Given the description of an element on the screen output the (x, y) to click on. 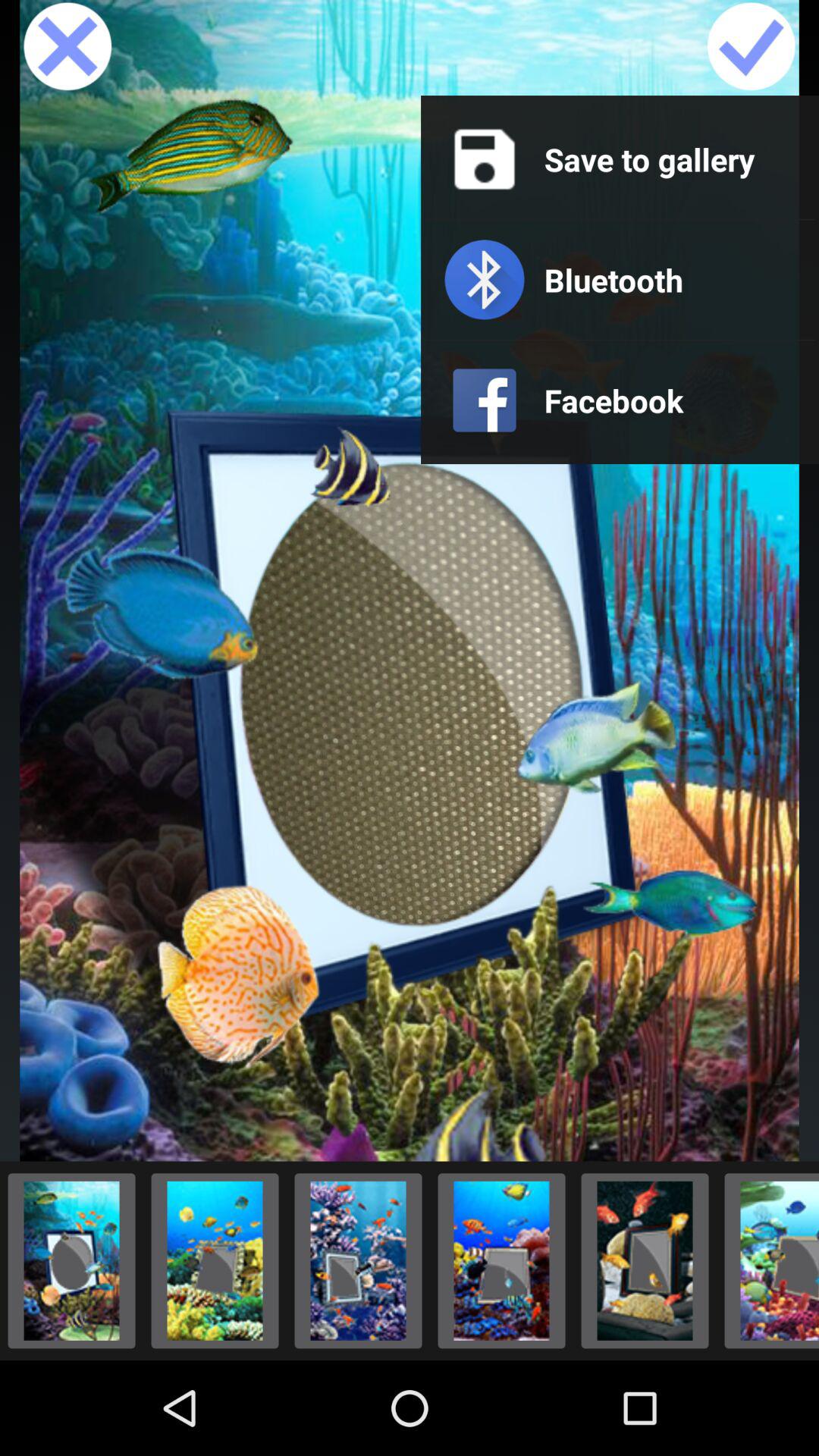
close (67, 47)
